Given the description of an element on the screen output the (x, y) to click on. 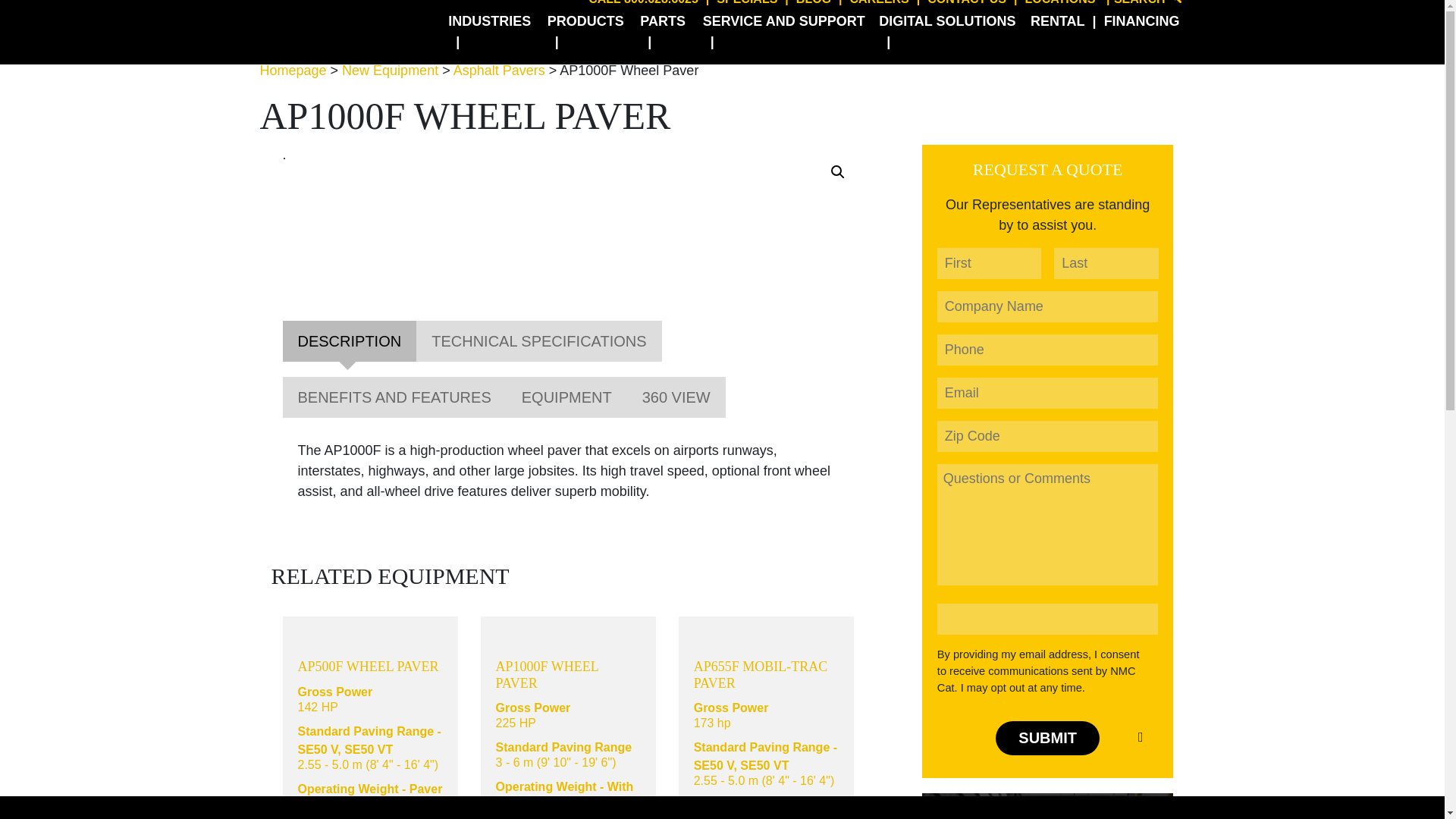
SEARCH (1143, 4)
SERVICE AND SUPPORT (783, 31)
BLOG (816, 4)
Careers (881, 4)
CALL 800.628.6025 (644, 4)
Call 800.628.6025 (644, 4)
PRODUCTS (586, 31)
SPECIALS (749, 4)
CONTACT US (968, 4)
CAREERS (881, 4)
